Given the description of an element on the screen output the (x, y) to click on. 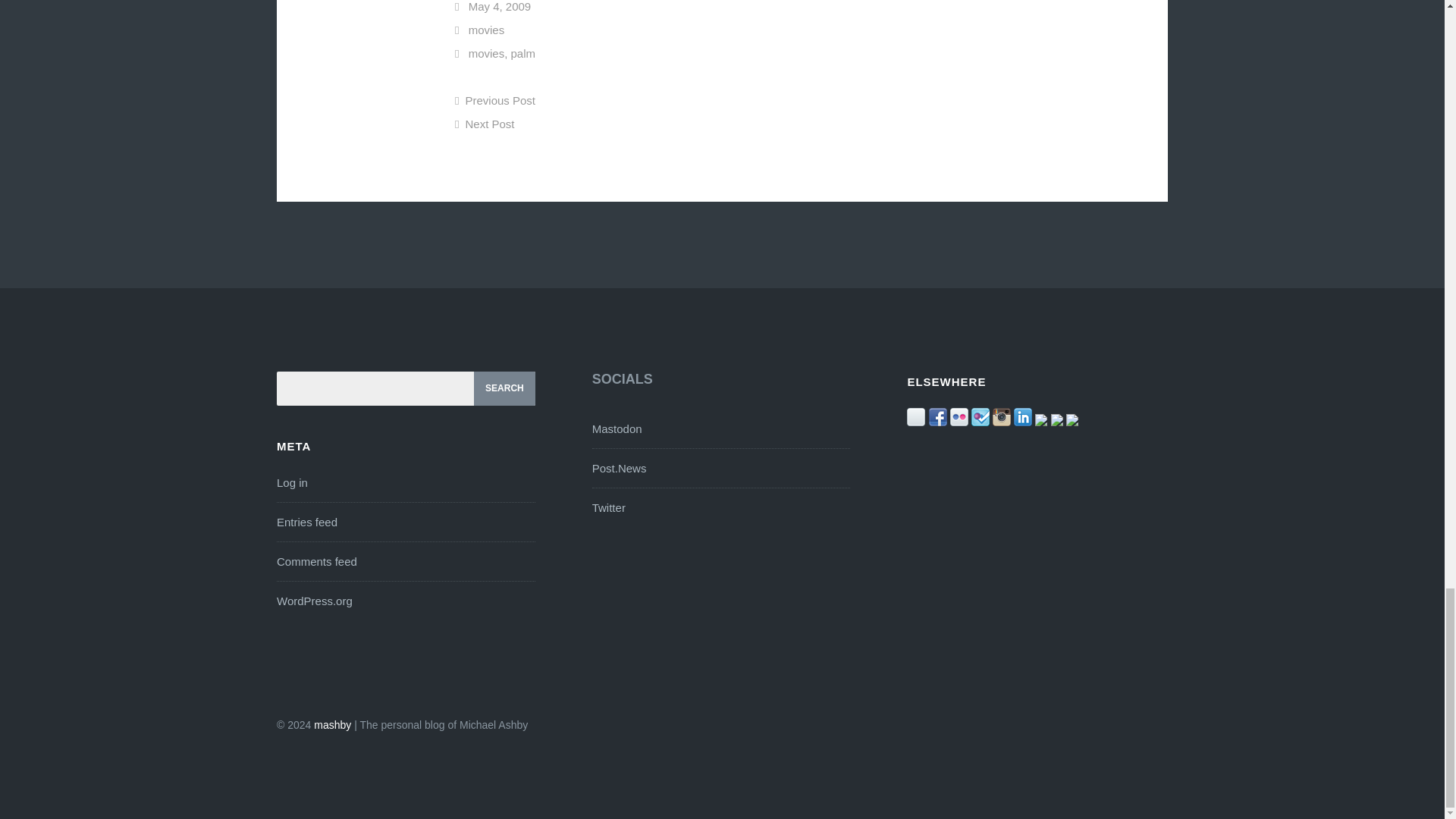
Next Post (484, 123)
movies (486, 52)
Search (504, 388)
Comments feed (316, 561)
Search (504, 388)
palm (523, 52)
Mastodon (617, 428)
Log in (291, 481)
movies (486, 29)
Twitter (609, 507)
